Given the description of an element on the screen output the (x, y) to click on. 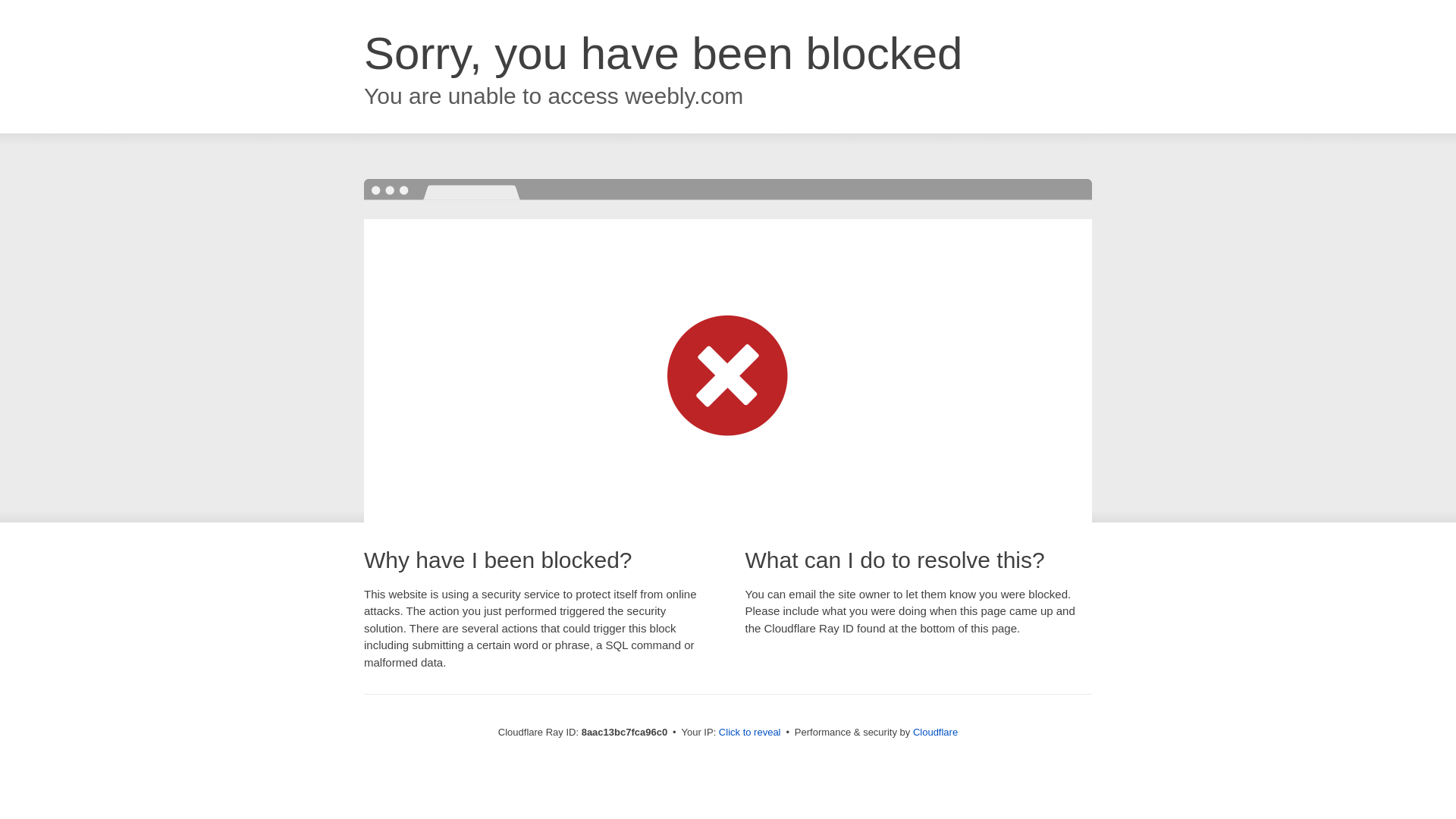
Cloudflare (935, 731)
Click to reveal (749, 732)
